Given the description of an element on the screen output the (x, y) to click on. 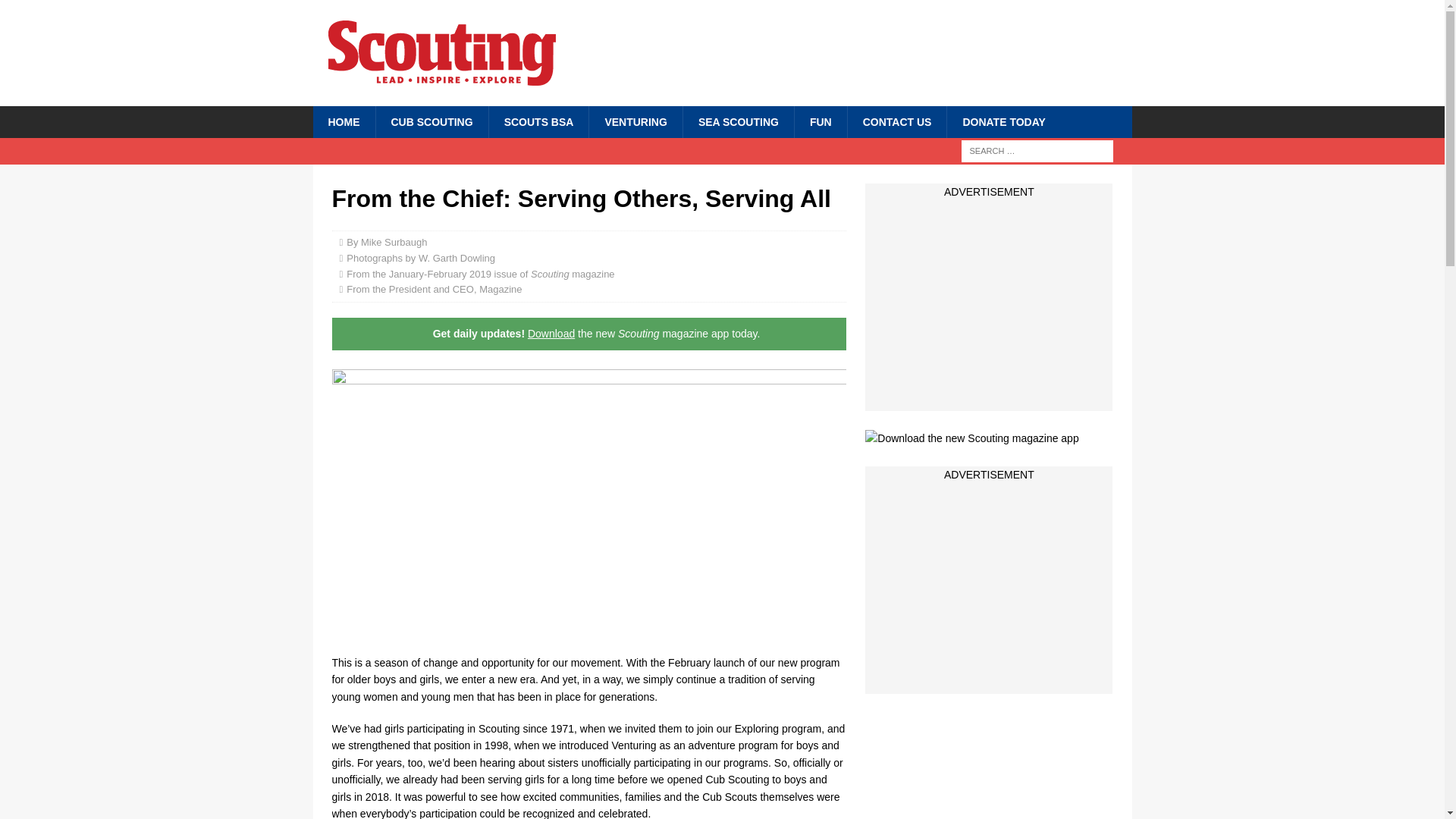
CONTACT US (897, 122)
From the President and CEO (410, 288)
Search (56, 11)
VENTURING (634, 122)
SCOUTS BSA (538, 122)
DONATE TODAY (1002, 122)
SEA SCOUTING (737, 122)
CUB SCOUTING (430, 122)
FUN (820, 122)
Magazine (500, 288)
